Given the description of an element on the screen output the (x, y) to click on. 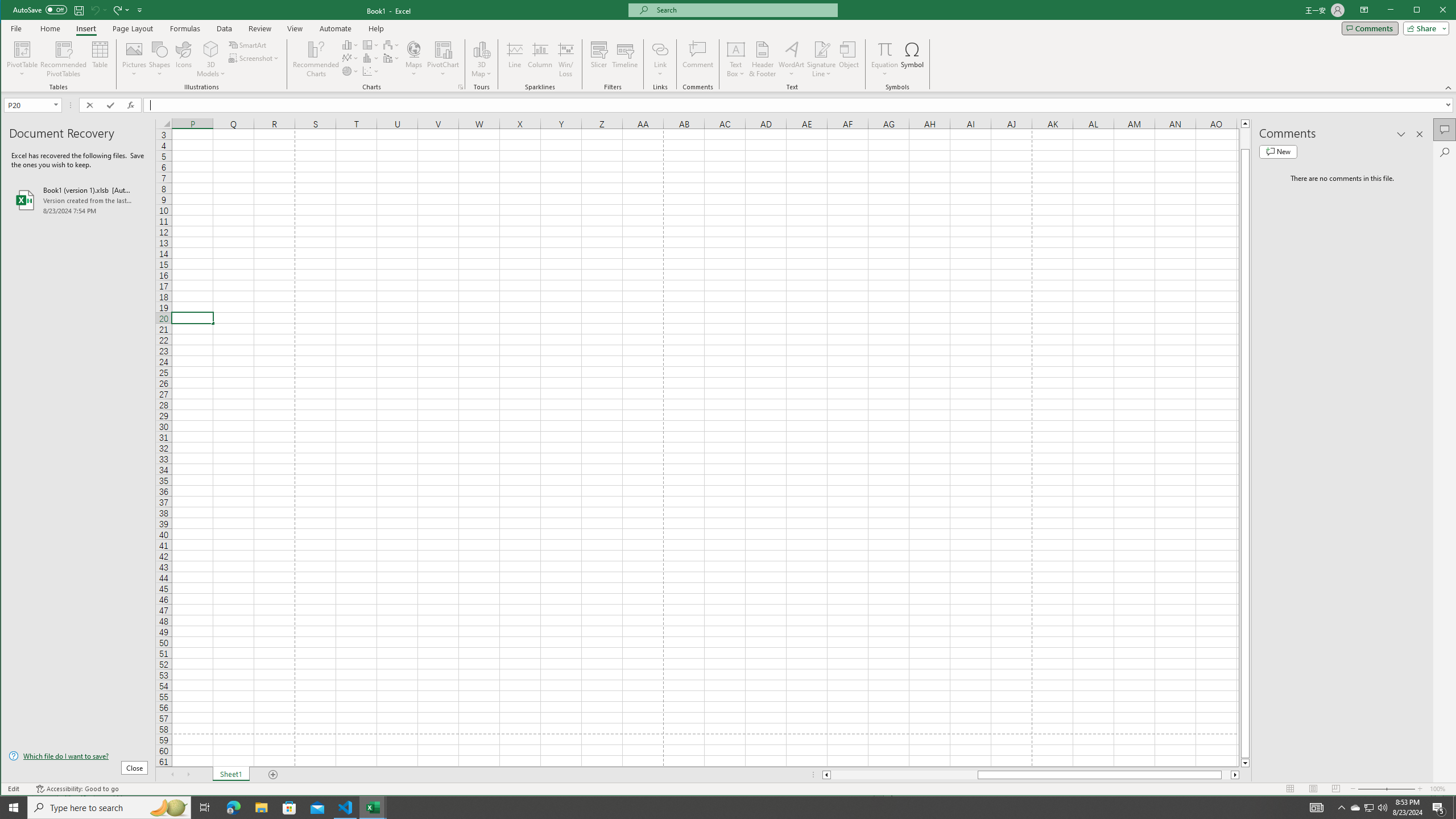
Accessibility Checker Accessibility: Good to go (77, 788)
Recommended Charts (460, 86)
Column (540, 59)
Data (224, 28)
Excel - 2 running windows (373, 807)
Running applications (717, 807)
Scroll Right (188, 774)
Class: MsoCommandBar (728, 45)
Signature Line (821, 59)
SmartArt... (248, 44)
